Given the description of an element on the screen output the (x, y) to click on. 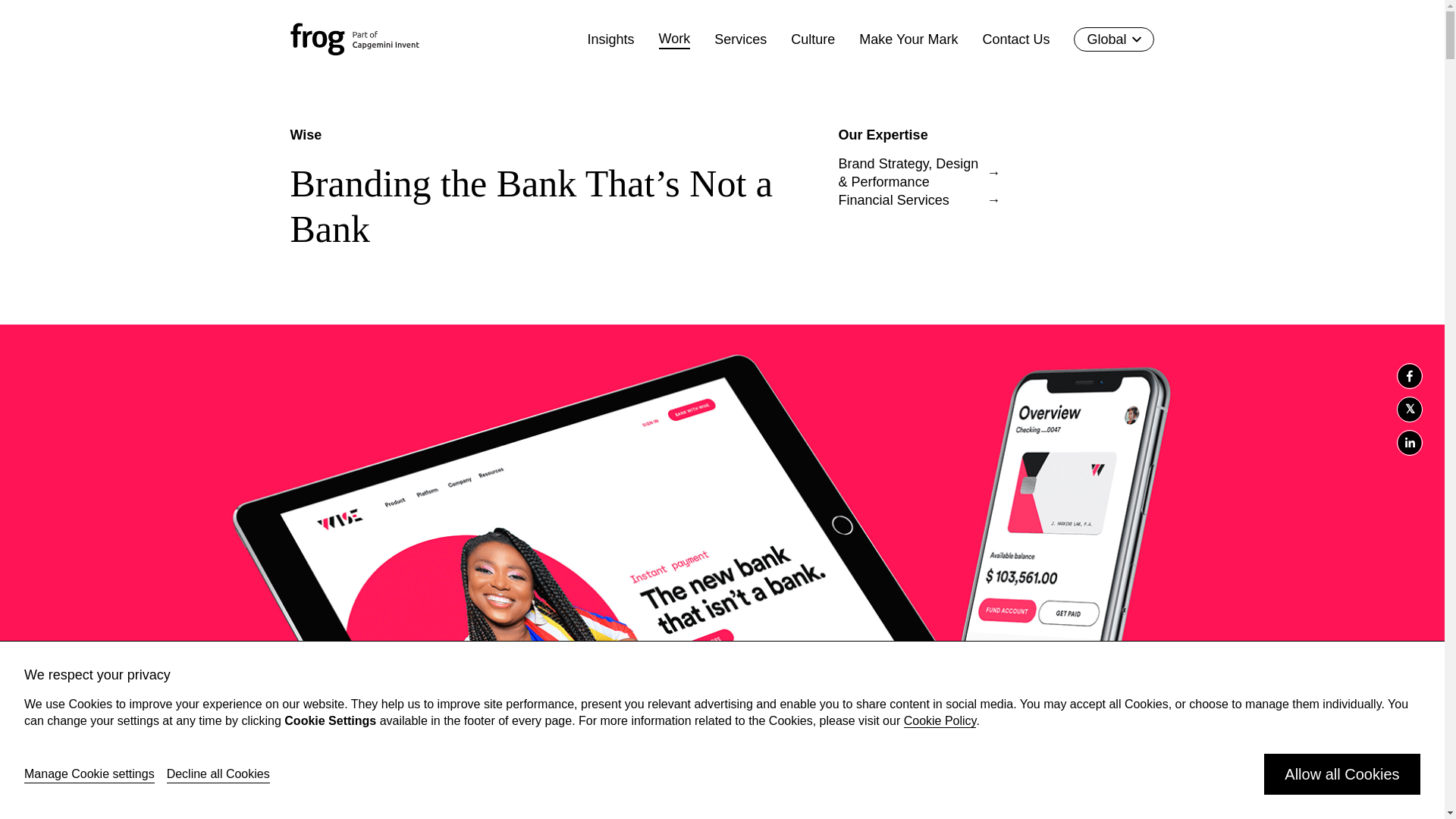
Manage Cookie settings (89, 773)
Decline all Cookies (218, 773)
Services (740, 39)
Allow all Cookies (1342, 773)
Cookie Policy (940, 721)
Allow all Cookies (1342, 773)
Make Your Mark (908, 39)
Work (674, 39)
Insights (611, 39)
Culture (812, 39)
